Given the description of an element on the screen output the (x, y) to click on. 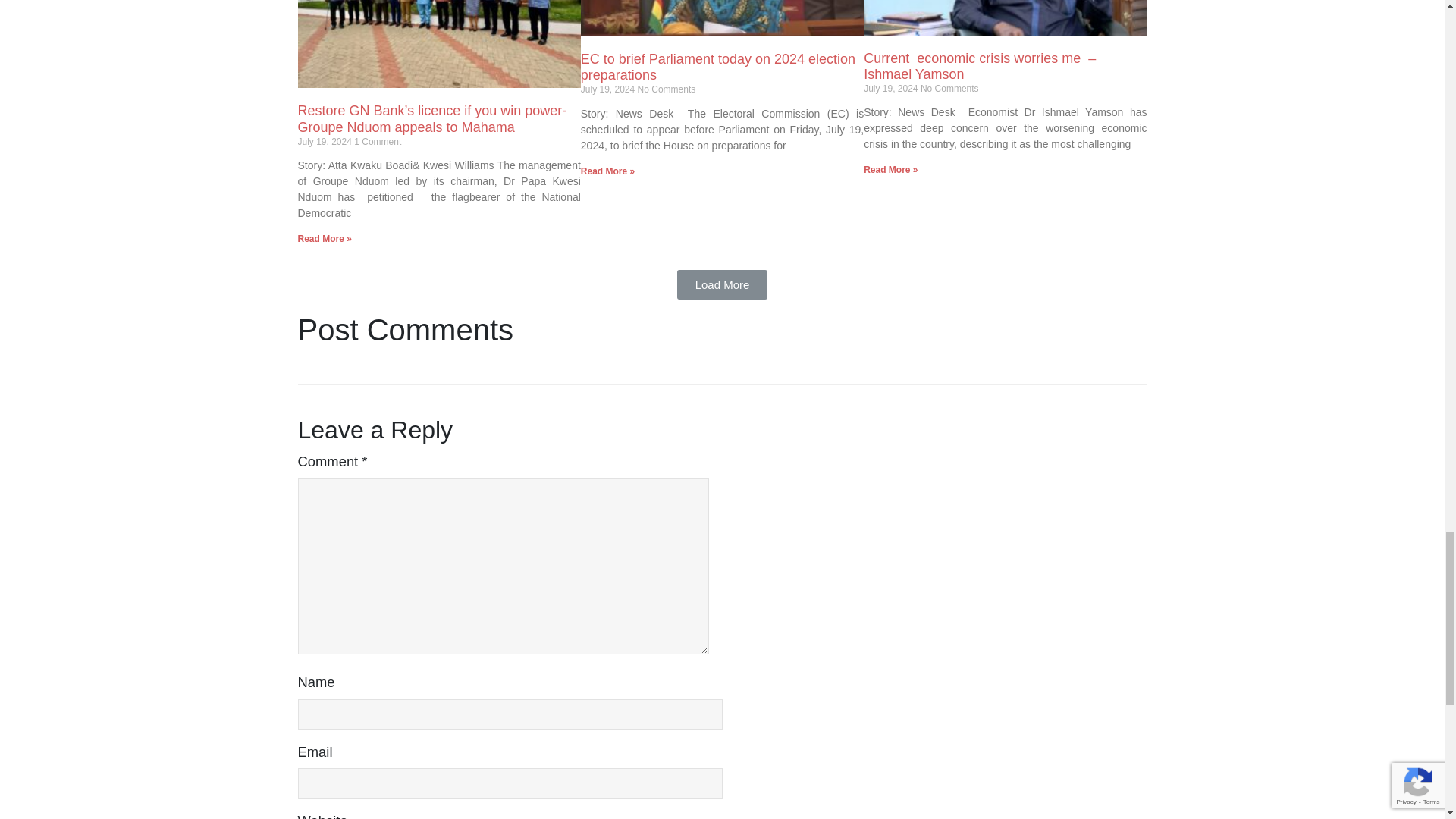
EC to brief Parliament today on 2024 election preparations (718, 67)
